Given the description of an element on the screen output the (x, y) to click on. 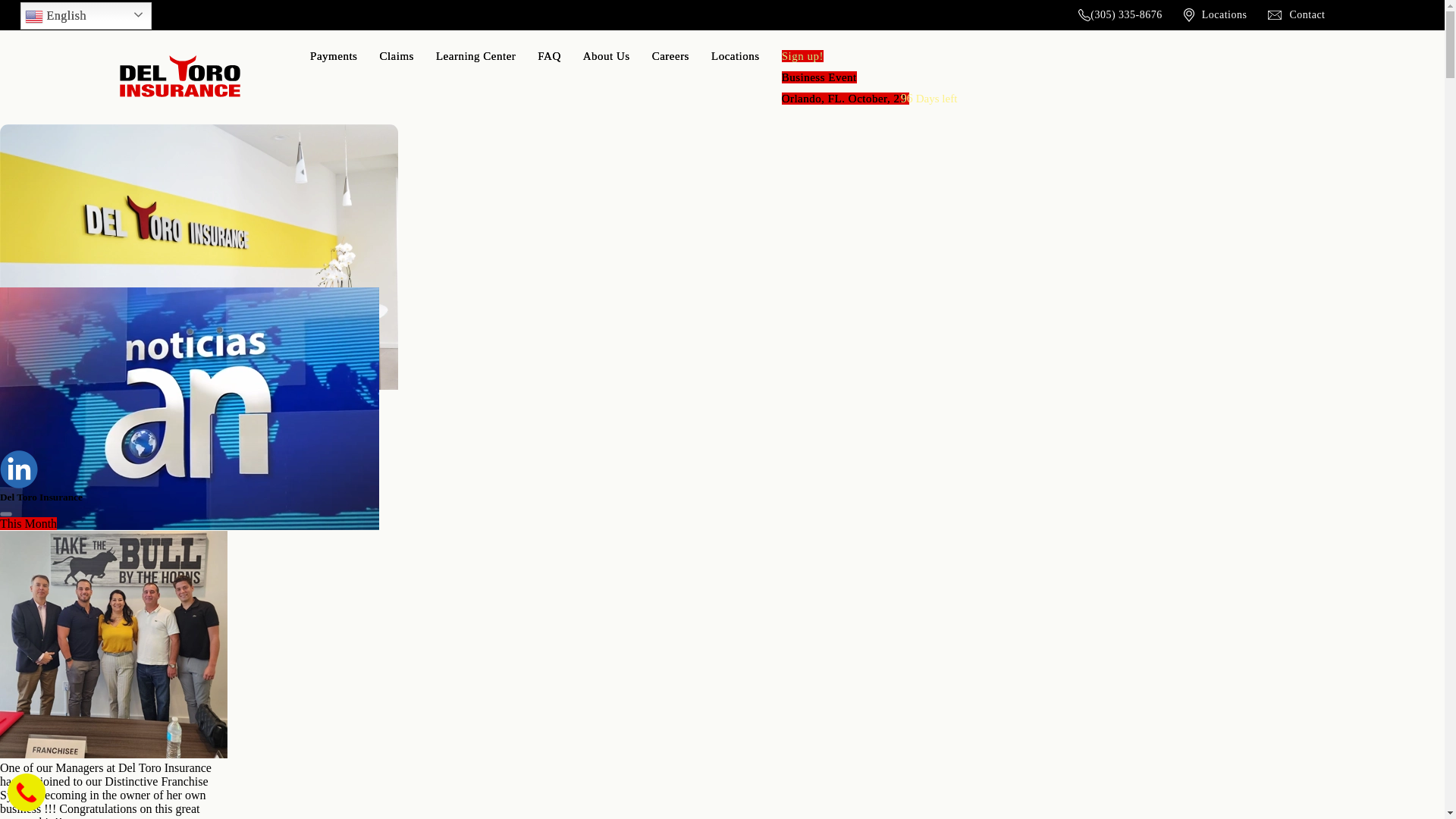
Payments (333, 55)
Del Toro Insurance (179, 75)
English (85, 15)
Contact (1296, 14)
Locations (1215, 14)
Locations (844, 76)
About Us (735, 55)
Learning Center (606, 55)
Careers (475, 55)
Claims (670, 55)
FAQ (395, 55)
